Given the description of an element on the screen output the (x, y) to click on. 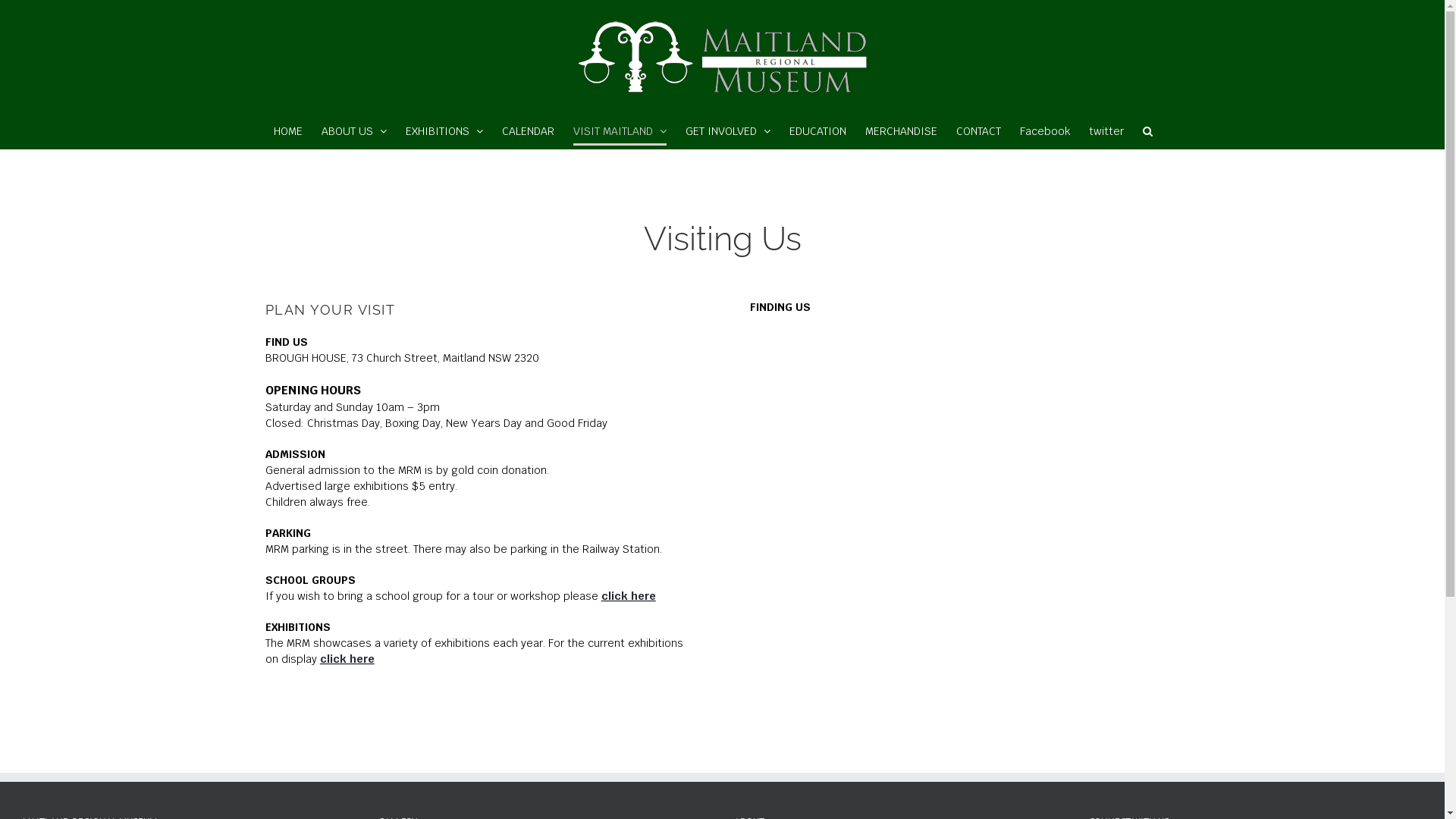
CALENDAR Element type: text (528, 130)
twitter Element type: text (1105, 130)
Facebook Element type: text (1044, 130)
click here Element type: text (347, 658)
VISIT MAITLAND Element type: text (619, 130)
Search Element type: hover (1146, 130)
EDUCATION Element type: text (816, 130)
HOME Element type: text (287, 130)
EXHIBITIONS Element type: text (443, 130)
ABOUT US Element type: text (353, 130)
CONTACT Element type: text (977, 130)
click here Element type: text (628, 595)
GET INVOLVED Element type: text (727, 130)
MERCHANDISE Element type: text (900, 130)
